Given the description of an element on the screen output the (x, y) to click on. 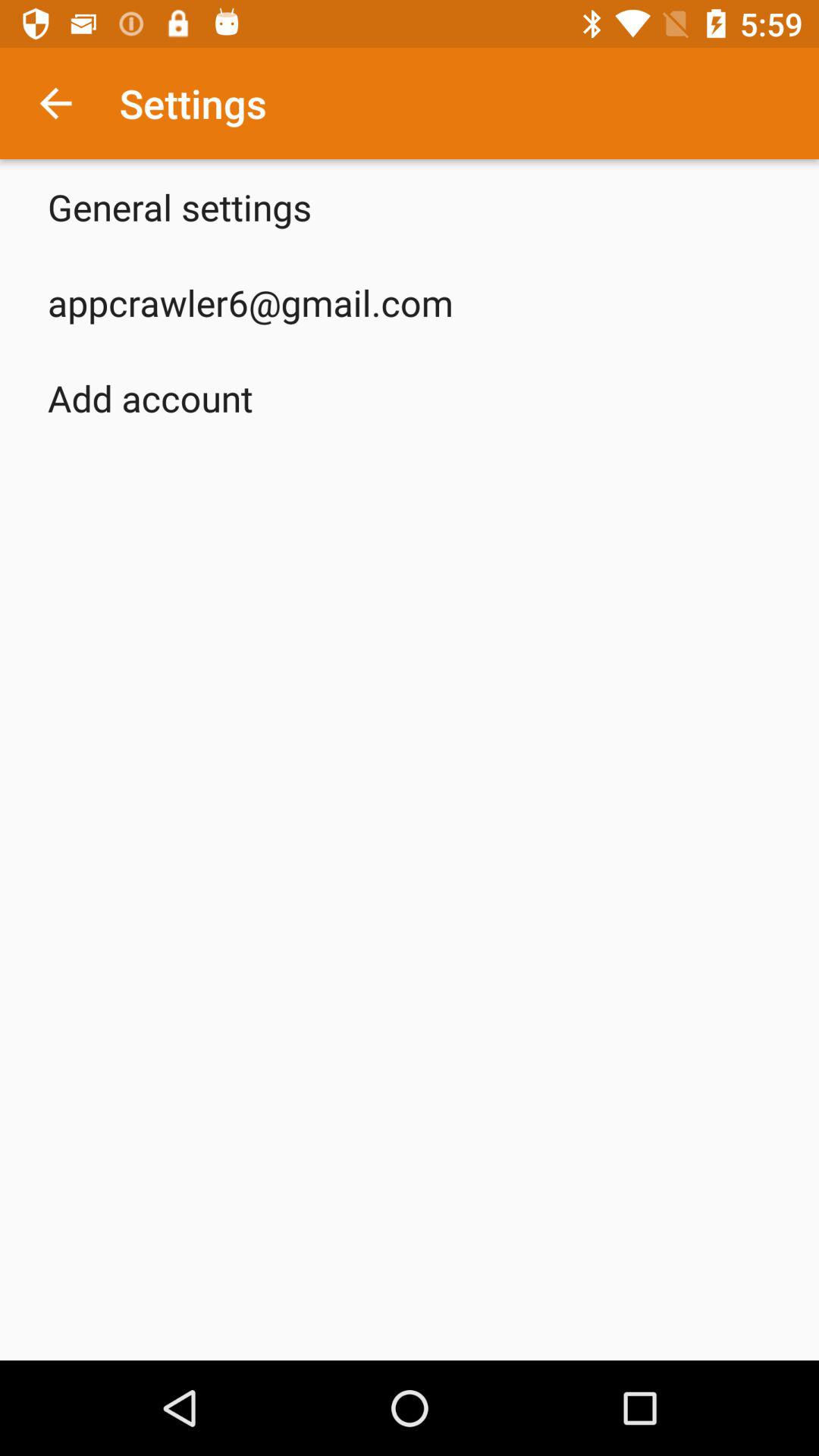
select icon to the left of settings item (55, 103)
